Given the description of an element on the screen output the (x, y) to click on. 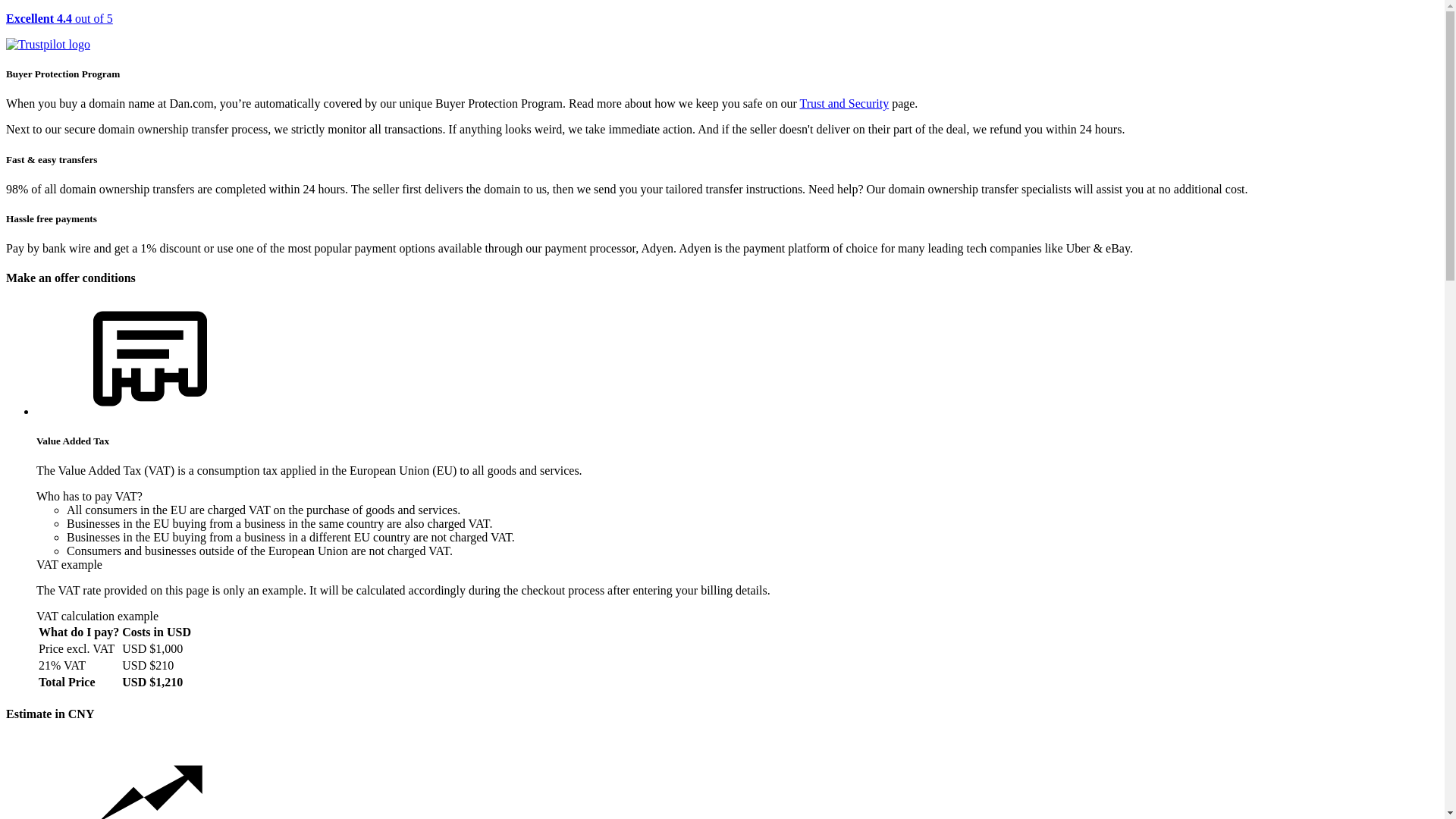
Trust and Security Element type: text (844, 103)
Excellent 4.4 out of 5 Element type: text (722, 31)
